Given the description of an element on the screen output the (x, y) to click on. 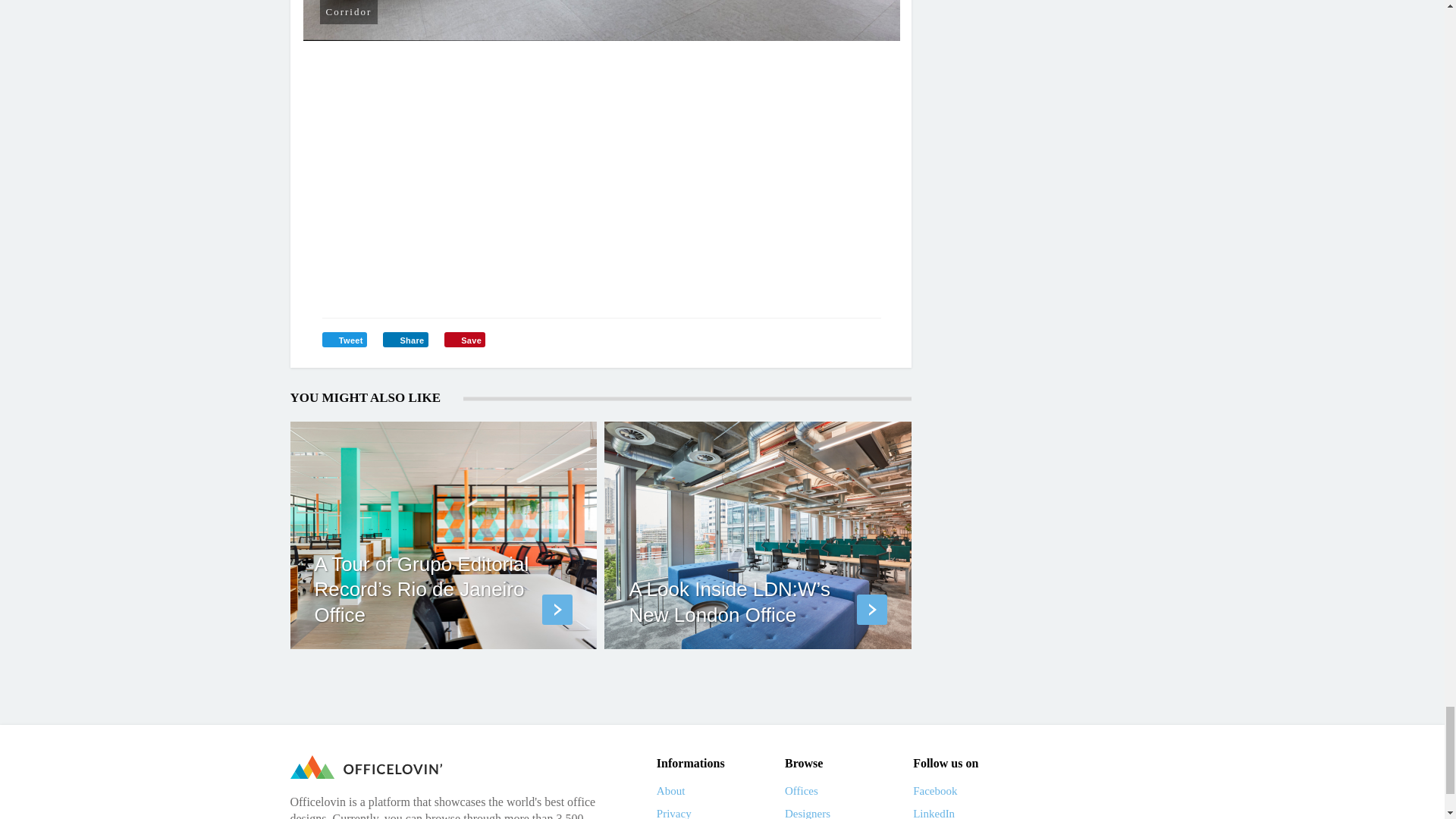
Corridor (601, 20)
